Given the description of an element on the screen output the (x, y) to click on. 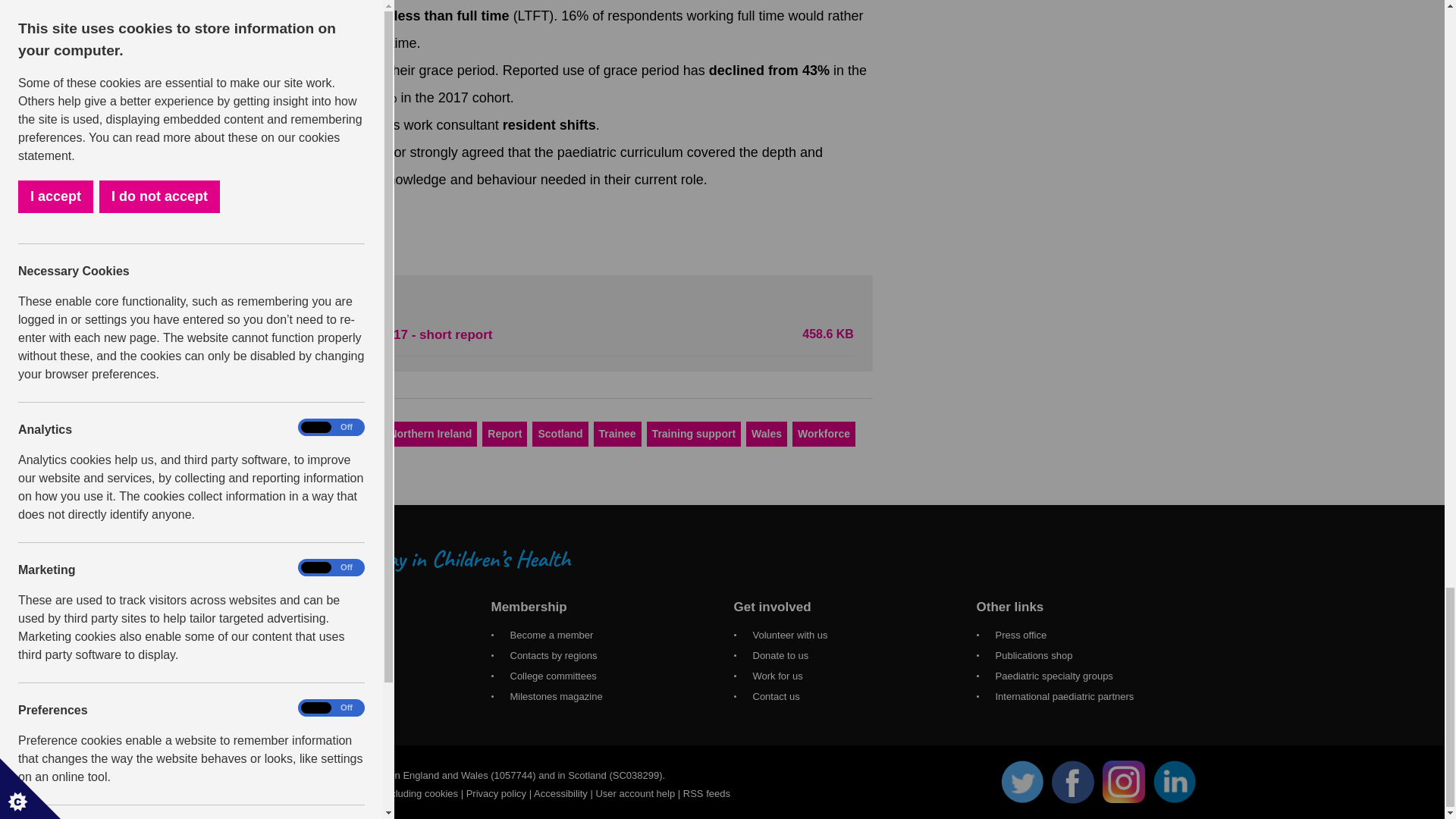
Return back to top (292, 224)
